Given the description of an element on the screen output the (x, y) to click on. 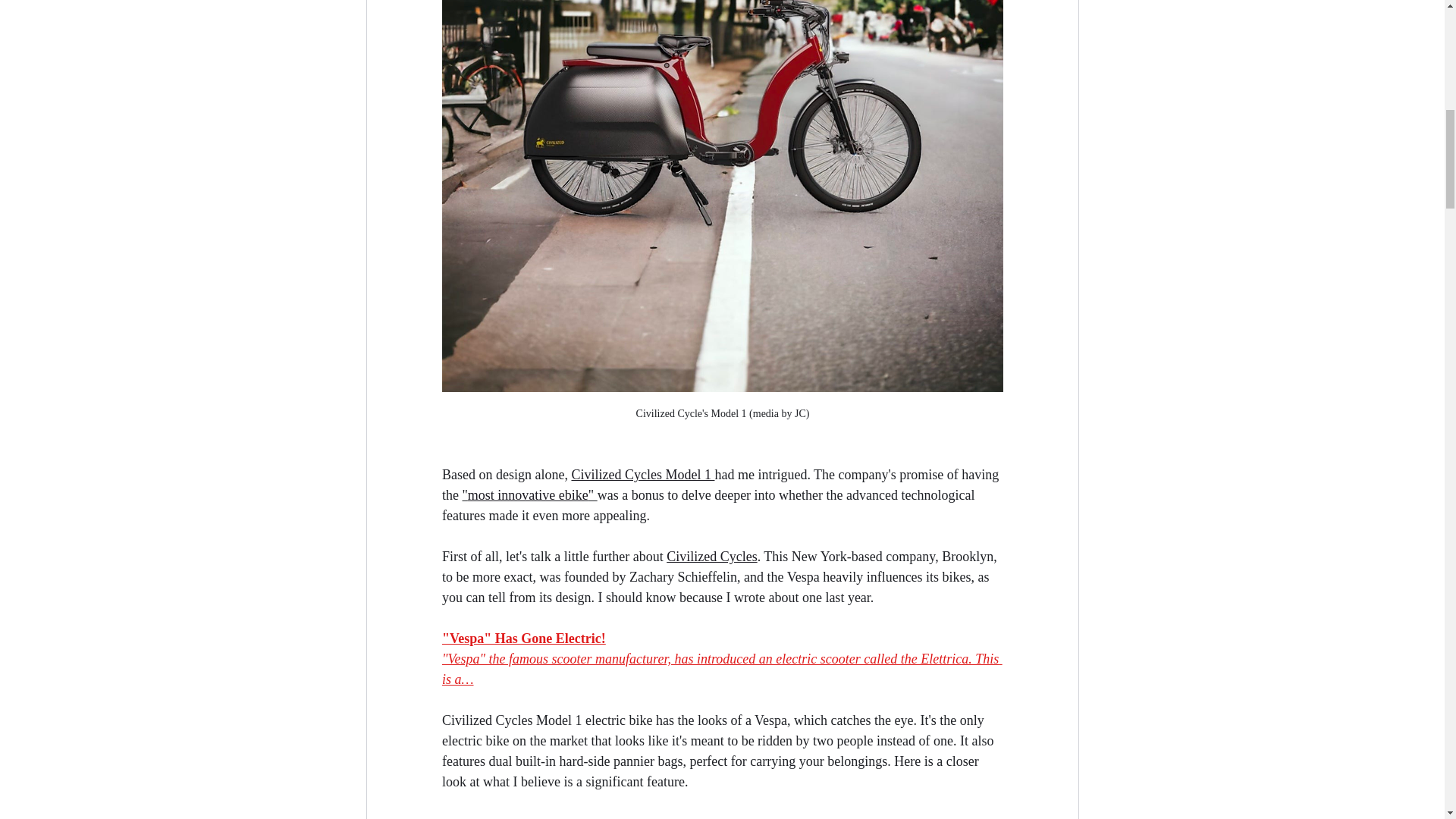
Civilized Cycles (711, 556)
Civilized Cycles Model 1  (642, 474)
"Vespa" Has Gone Electric! (523, 638)
most innovative ebike (527, 494)
